Given the description of an element on the screen output the (x, y) to click on. 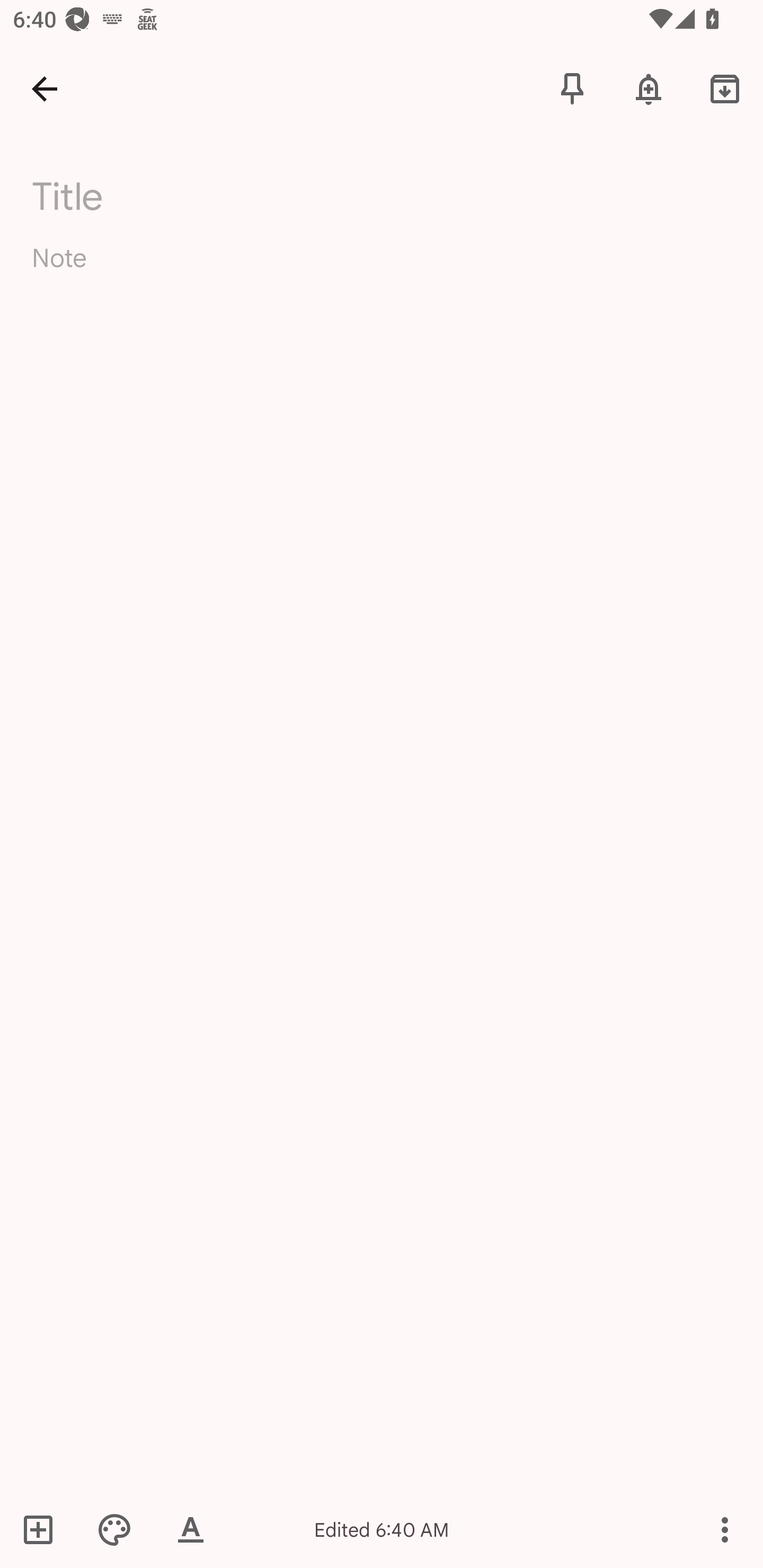
Navigate up (44, 88)
Pin (572, 88)
Reminder (648, 88)
Archive (724, 88)
Title (392, 196)
Note (381, 273)
New list (44, 1529)
New drawing note (120, 1529)
New audio note (196, 1529)
Action (724, 1529)
